Given the description of an element on the screen output the (x, y) to click on. 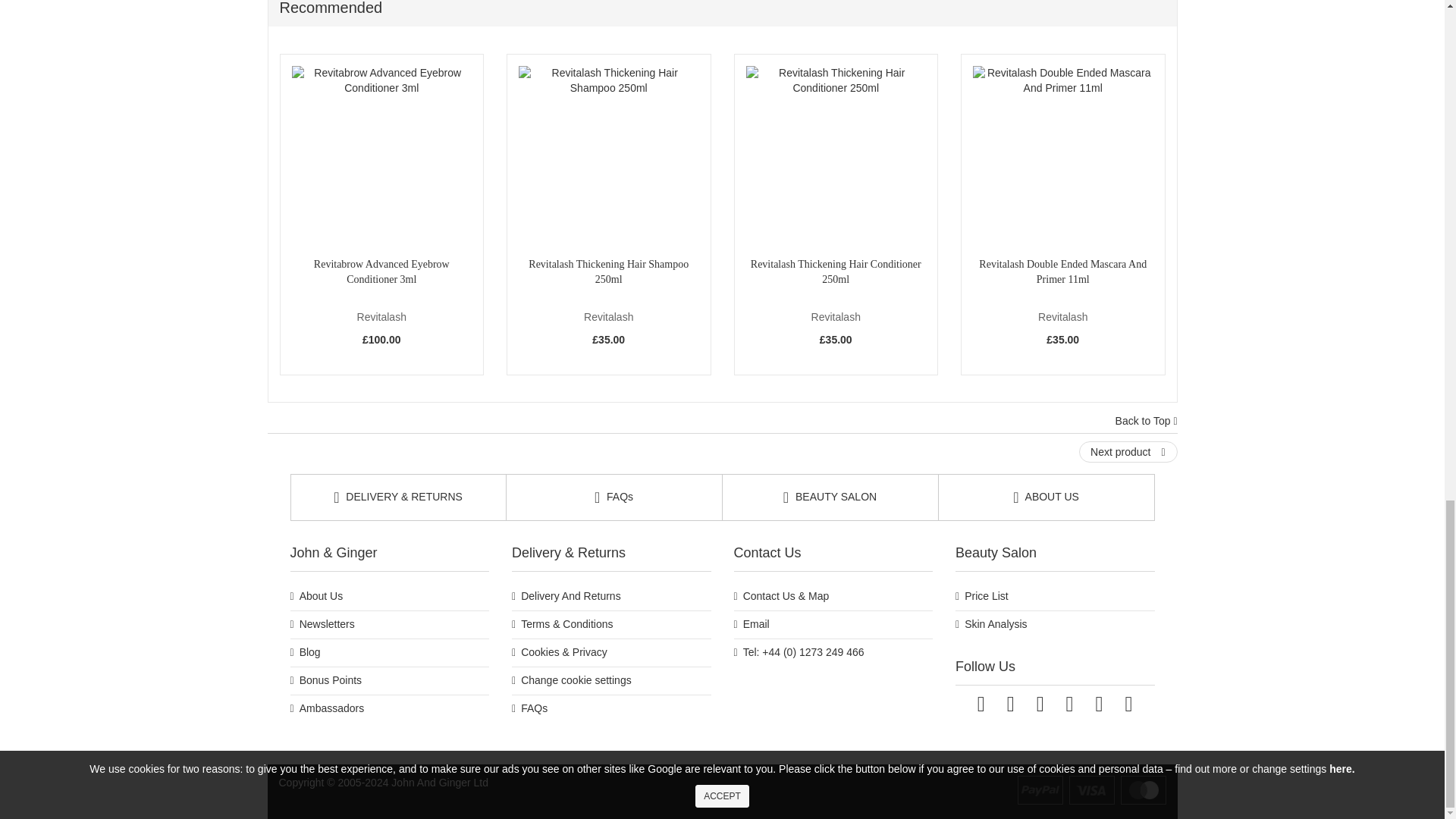
Revitalash Thickening Hair Shampoo 250ml (608, 156)
Revitalash Thickening Hair Conditioner 250ml (835, 156)
Back to Top (1146, 421)
Revitalash Double Ended Mascara And Primer 11ml (1062, 156)
Revitabrow Advanced Eyebrow Conditioner 3ml (381, 156)
